Given the description of an element on the screen output the (x, y) to click on. 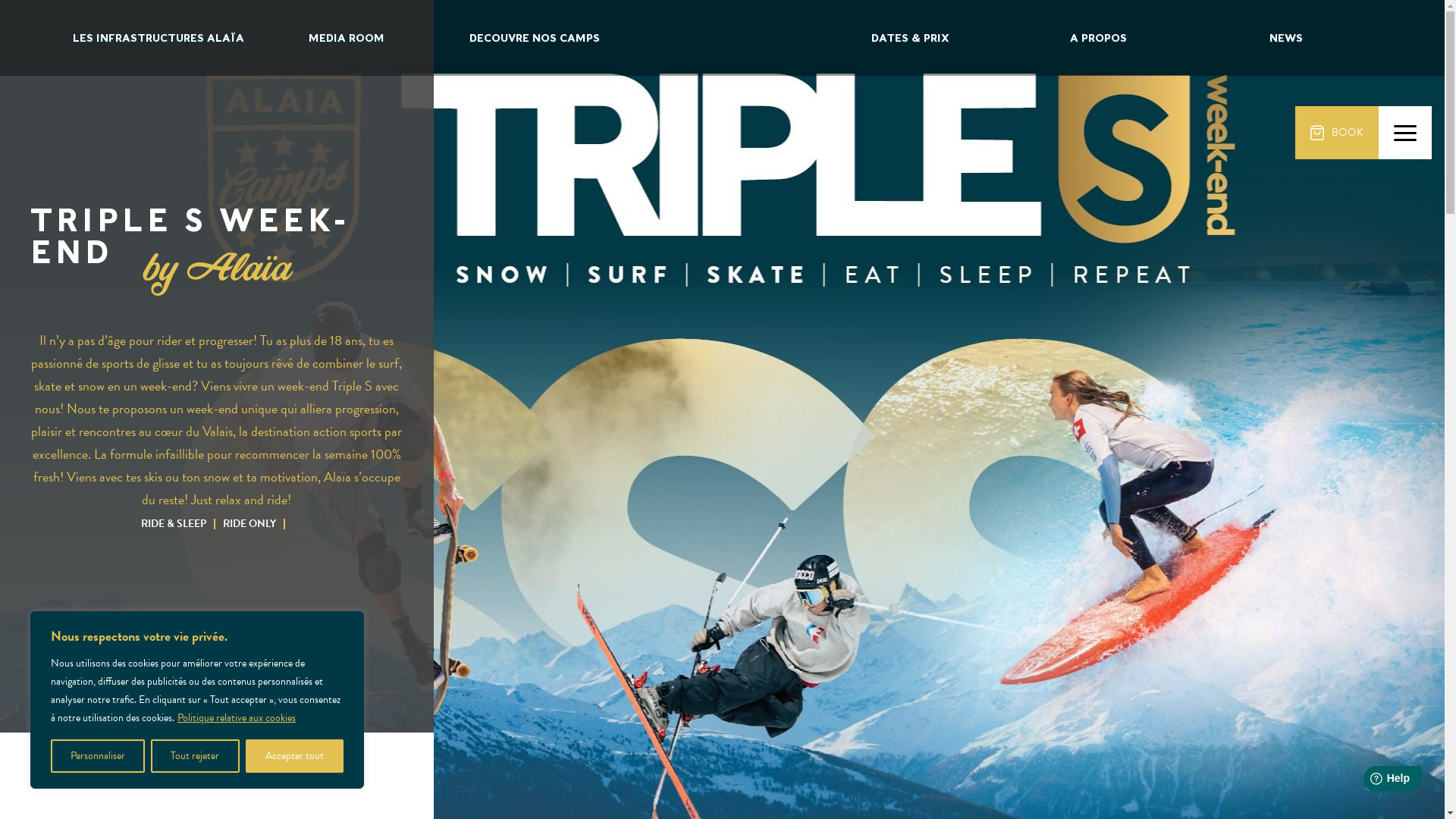
MEDIA ROOM Element type: text (346, 37)
NEWS Element type: text (1285, 37)
Personnaliser Element type: text (97, 755)
BOOK Element type: text (1336, 132)
Accepter tout Element type: text (294, 755)
Politique relative aux cookies Element type: text (236, 717)
DATES & PRIX Element type: text (910, 37)
DECOUVRE NOS CAMPS Element type: text (534, 37)
Tout rejeter Element type: text (194, 755)
A PROPOS Element type: text (1098, 37)
